Given the description of an element on the screen output the (x, y) to click on. 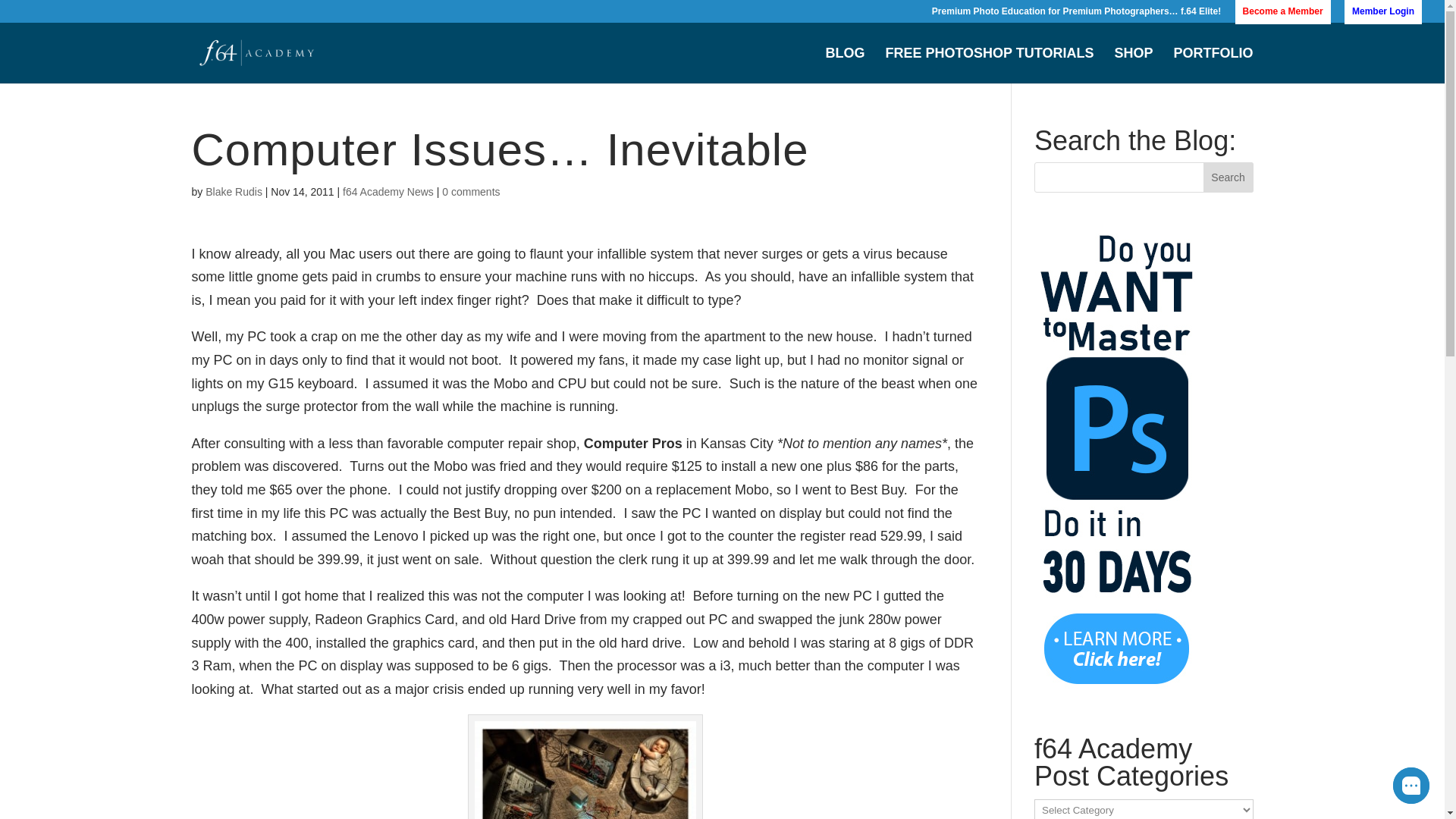
PORTFOLIO (1213, 65)
BLOG (844, 65)
Posts by Blake Rudis (233, 191)
SHOP (1133, 65)
Blake Rudis (233, 191)
Search (1228, 177)
f64 Academy News (387, 191)
FREE PHOTOSHOP TUTORIALS (989, 65)
0 comments (470, 191)
Become a Member (1282, 14)
Search (1228, 177)
Member Login (1382, 14)
